Given the description of an element on the screen output the (x, y) to click on. 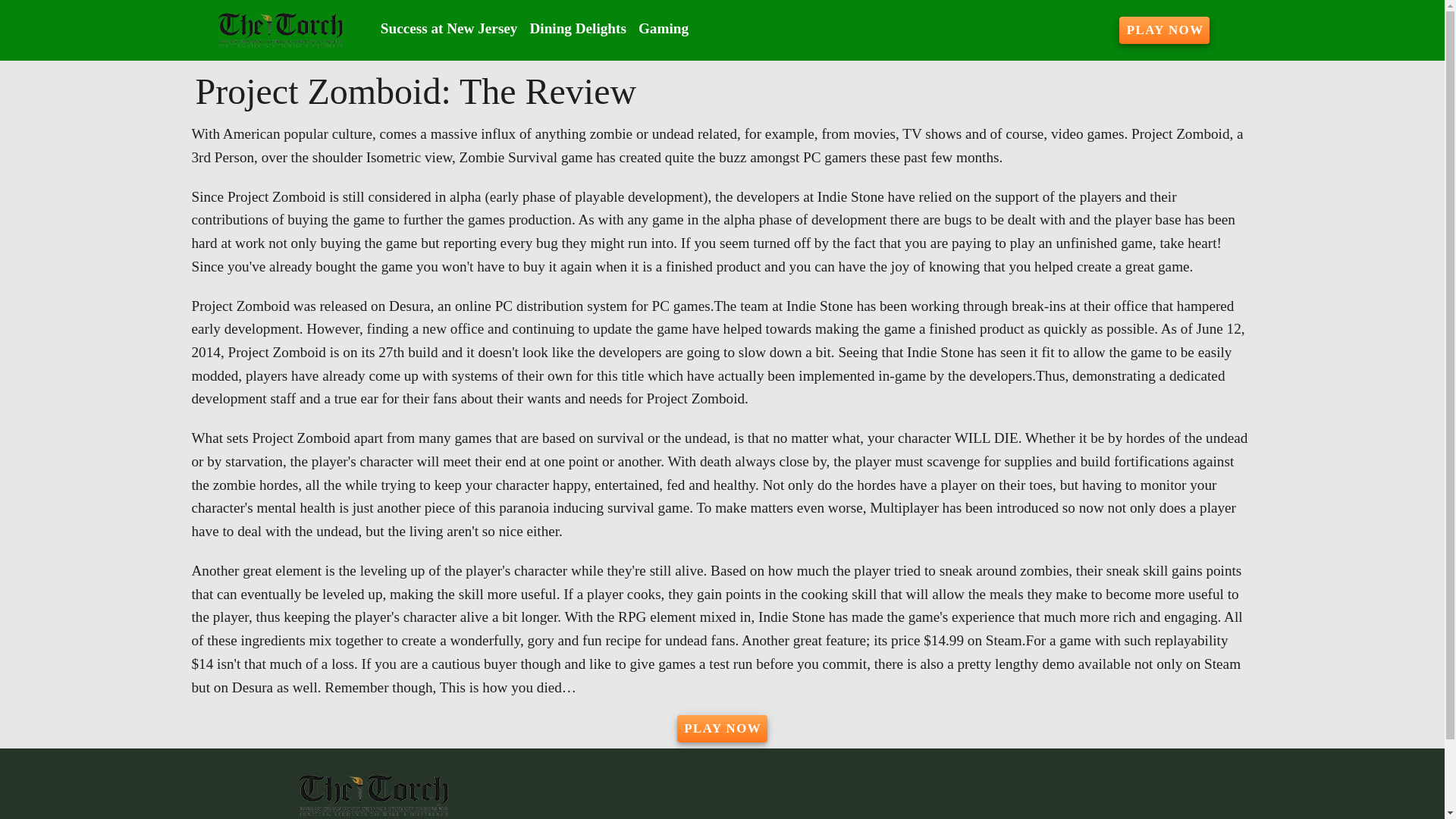
PLAY NOW (722, 728)
PLAY NOW (1164, 30)
Success at New Jersey (449, 28)
Gaming (662, 28)
Dining Delights (576, 28)
